Given the description of an element on the screen output the (x, y) to click on. 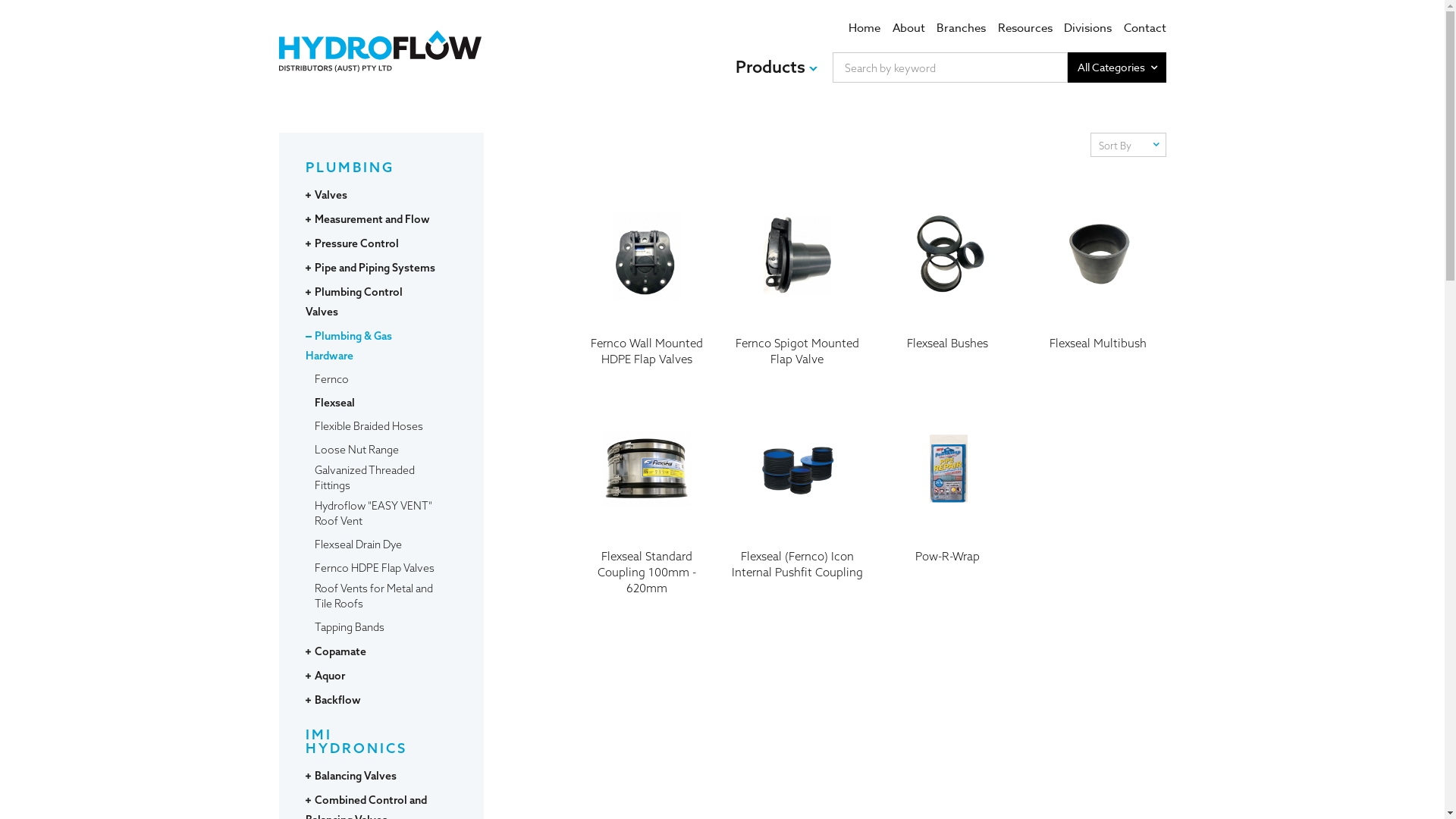
Loose Nut Range Element type: text (355, 449)
Products Element type: text (775, 67)
About Element type: text (907, 27)
Divisions Element type: text (1087, 27)
Plumbing & Gas Hardware Element type: text (347, 345)
Copamate Element type: text (339, 651)
Flexseal Bushes Element type: text (947, 280)
Pow-R-Wrap Element type: text (947, 493)
Contact Element type: text (1144, 27)
Pressure Control Element type: text (355, 243)
Flexseal (Fernco) Icon Internal Pushfit Coupling Element type: text (797, 493)
Fernco Element type: text (330, 378)
Pipe and Piping Systems Element type: text (373, 267)
Aquor Element type: text (328, 675)
Valves Element type: text (329, 194)
Fernco Wall Mounted HDPE Flap Valves Element type: text (647, 280)
Galvanized Threaded Fittings Element type: text (374, 477)
Hydroflow "EASY VENT" Roof Vent Element type: text (374, 513)
Branches Element type: text (960, 27)
Home Element type: text (864, 27)
Backflow Element type: text (336, 699)
Fernco Spigot Mounted Flap Valve Element type: text (797, 280)
Tapping Bands Element type: text (348, 626)
Plumbing Control Valves Element type: text (352, 301)
Flexseal Element type: text (333, 402)
Flexible Braided Hoses Element type: text (367, 425)
Fernco HDPE Flap Valves Element type: text (373, 567)
Resources Element type: text (1024, 27)
Measurement and Flow Element type: text (371, 218)
Flexseal Standard Coupling 100mm - 620mm Element type: text (647, 500)
Flexseal Multibush Element type: text (1098, 280)
Flexseal Drain Dye Element type: text (357, 544)
Roof Vents for Metal and Tile Roofs Element type: text (374, 595)
Balancing Valves Element type: text (354, 775)
